Given the description of an element on the screen output the (x, y) to click on. 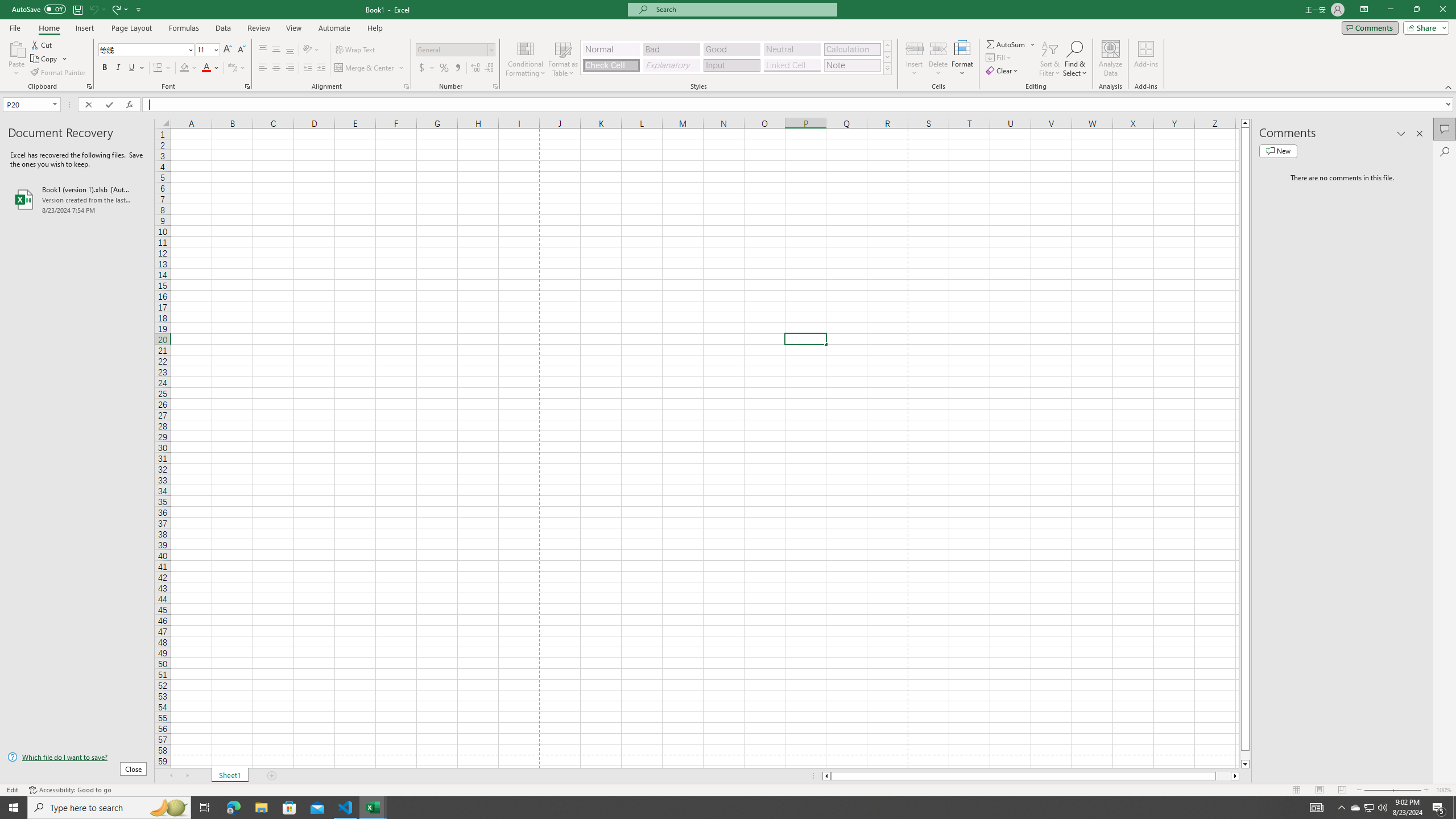
Align Left (262, 67)
Delete Cells... (938, 48)
Row Down (887, 56)
Decrease Indent (307, 67)
New comment (1278, 151)
Which file do I want to save? (77, 757)
Decrease Decimal (489, 67)
Linked Cell (791, 65)
